Given the description of an element on the screen output the (x, y) to click on. 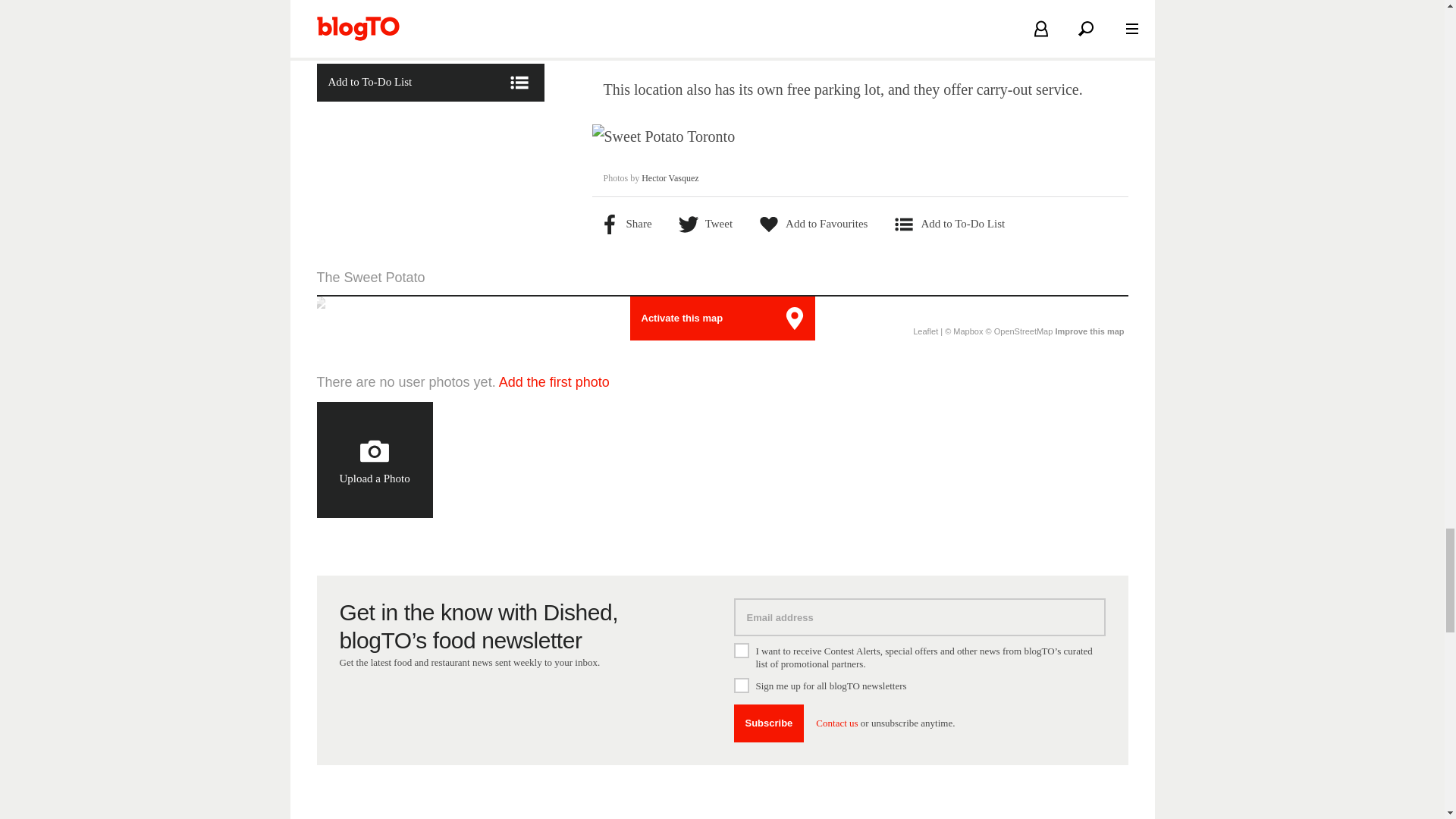
Subscribe (769, 723)
A JS library for interactive maps (924, 330)
